Given the description of an element on the screen output the (x, y) to click on. 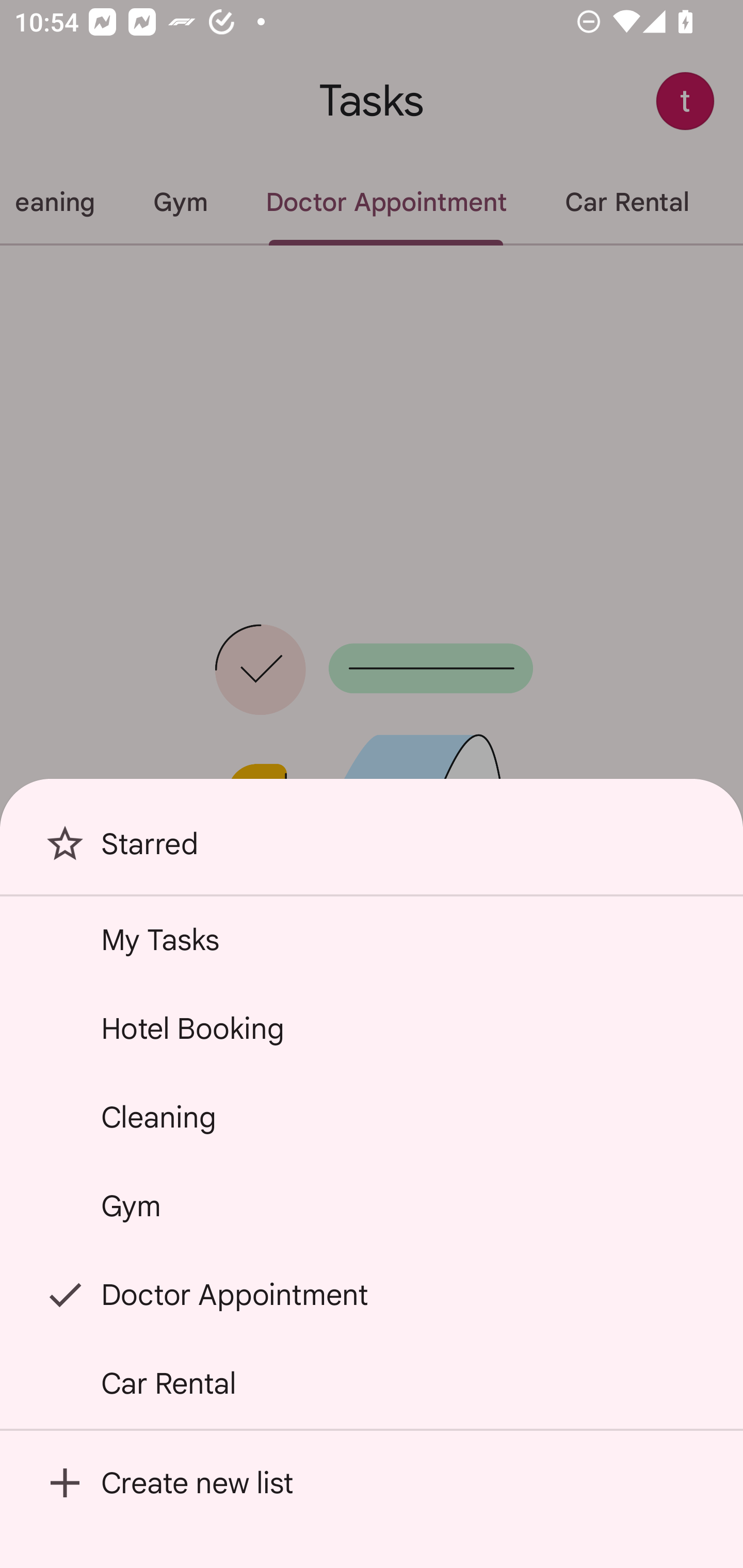
Starred (371, 850)
My Tasks (371, 939)
Hotel Booking (371, 1028)
Cleaning (371, 1117)
Gym (371, 1205)
Doctor Appointment (371, 1294)
Car Rental (371, 1383)
Create new list (371, 1482)
